Given the description of an element on the screen output the (x, y) to click on. 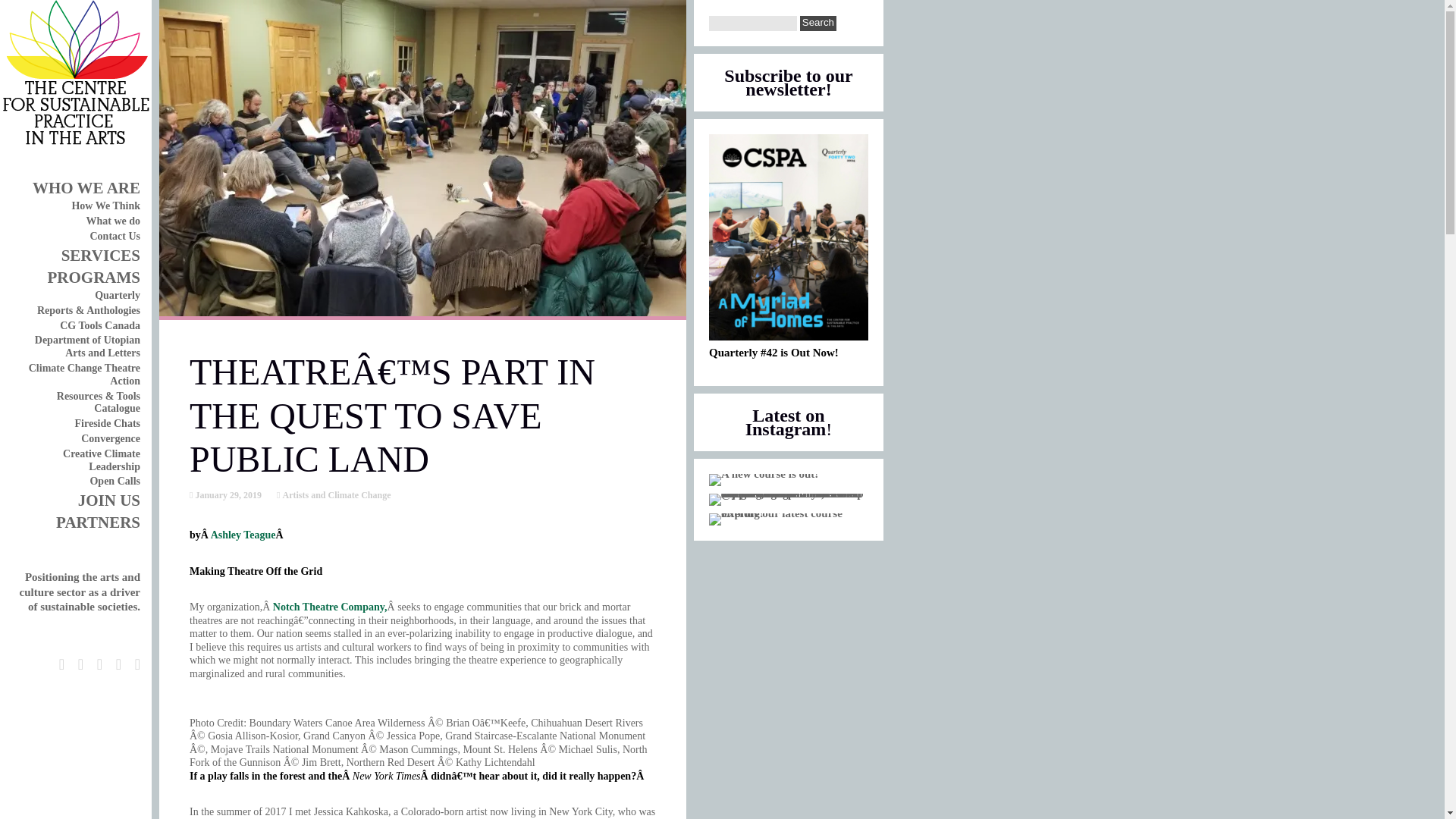
Convergence (110, 438)
Fireside Chats (107, 423)
PROGRAMS (92, 277)
Search (817, 23)
Climate Change Theatre Action (84, 374)
Ashley Teague (243, 534)
JOIN US (108, 500)
Notch Theatre Company, (330, 606)
Department of Utopian Arts and Letters (86, 346)
How We Think (105, 205)
Quarterly (116, 295)
January 29, 2019 (227, 494)
Artists and Climate Change (334, 494)
Open Calls (113, 480)
CG Tools Canada (99, 325)
